Given the description of an element on the screen output the (x, y) to click on. 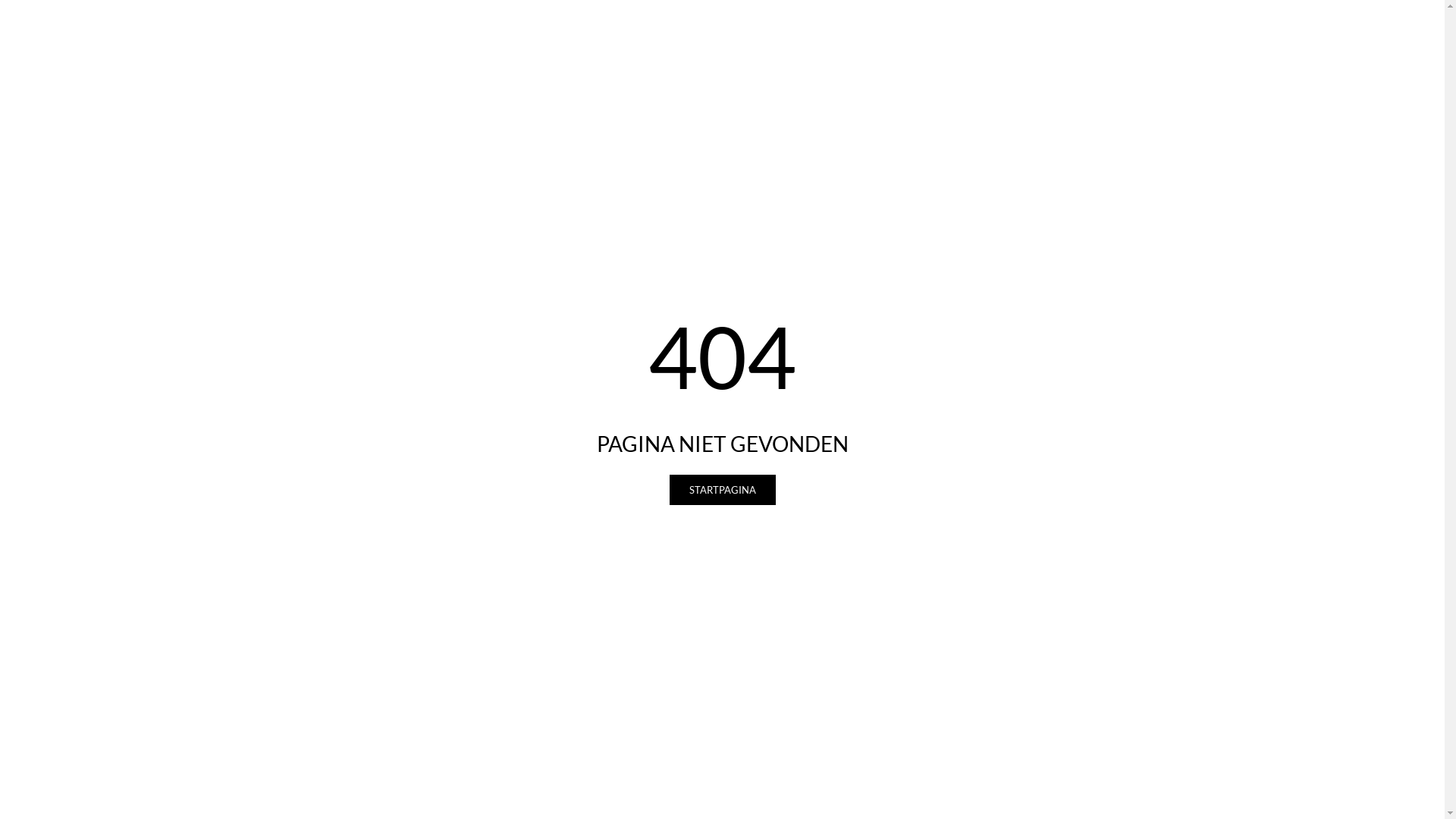
STARTPAGINA Element type: text (721, 489)
